Given the description of an element on the screen output the (x, y) to click on. 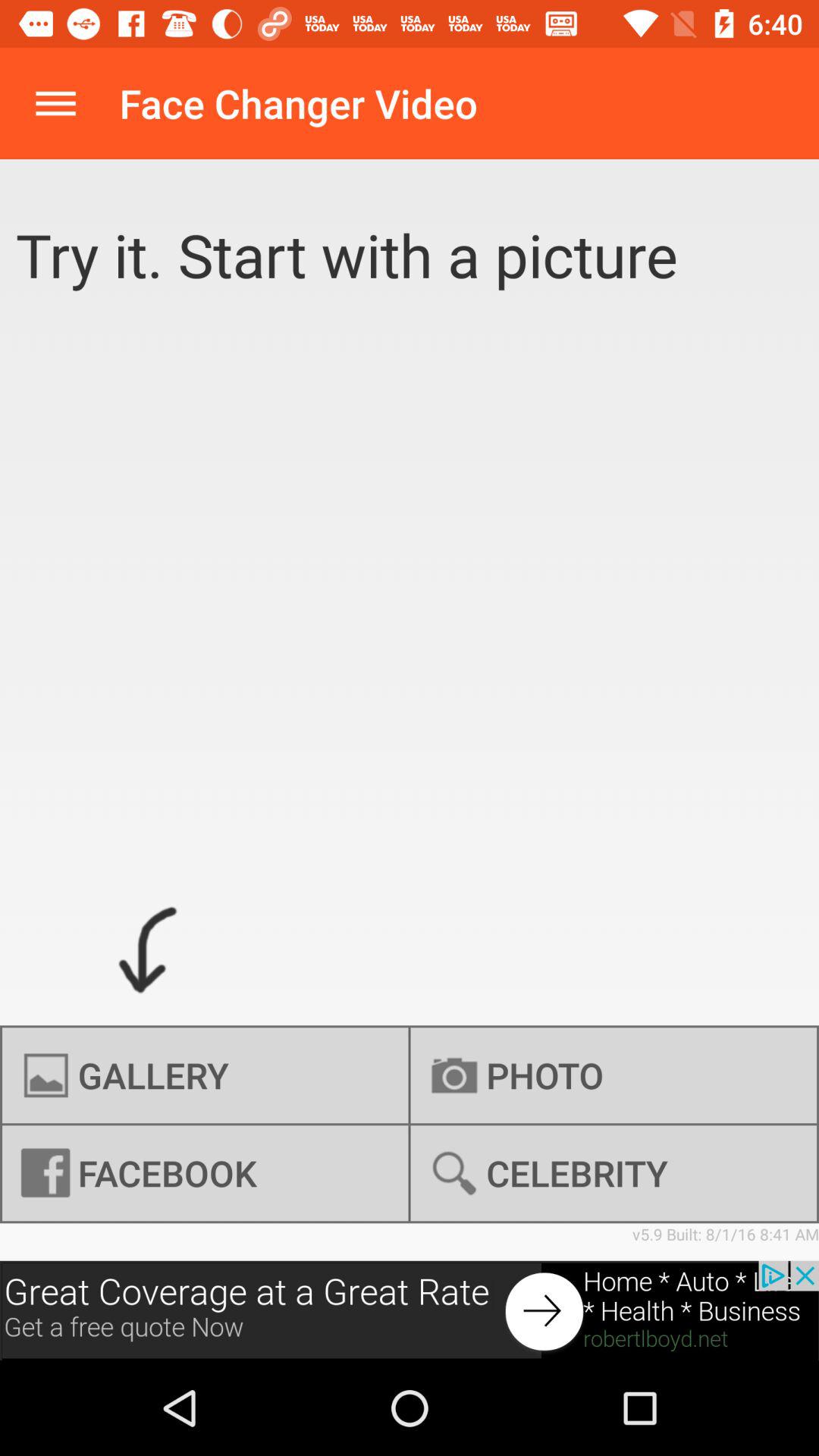
share the article (409, 1310)
